Given the description of an element on the screen output the (x, y) to click on. 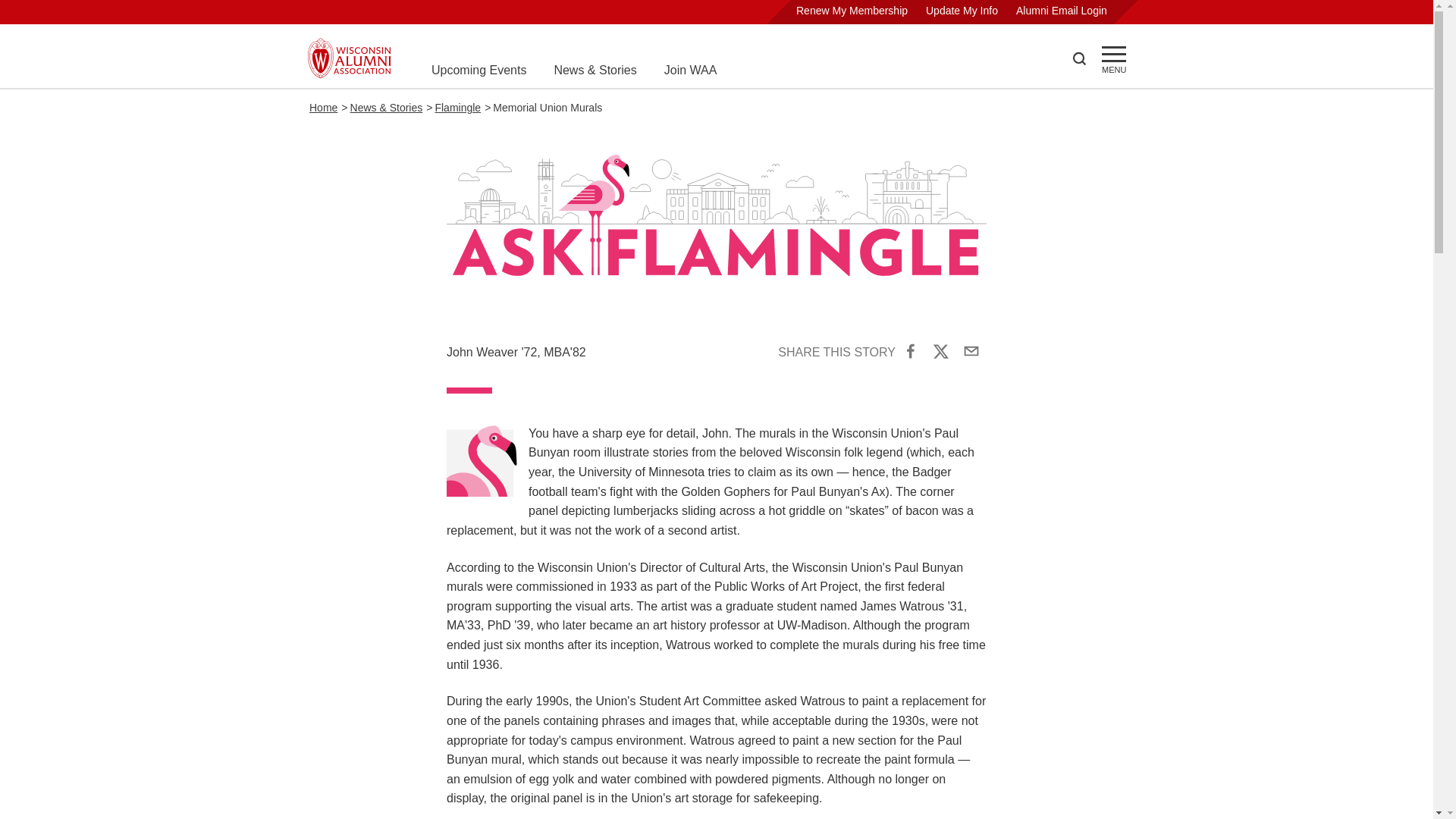
Join WAA (690, 70)
Flamingle (456, 107)
Home (322, 107)
Upcoming Events (477, 70)
Renew My Membership (851, 10)
Update My Info (961, 10)
Alumni Email Login (1061, 10)
